Given the description of an element on the screen output the (x, y) to click on. 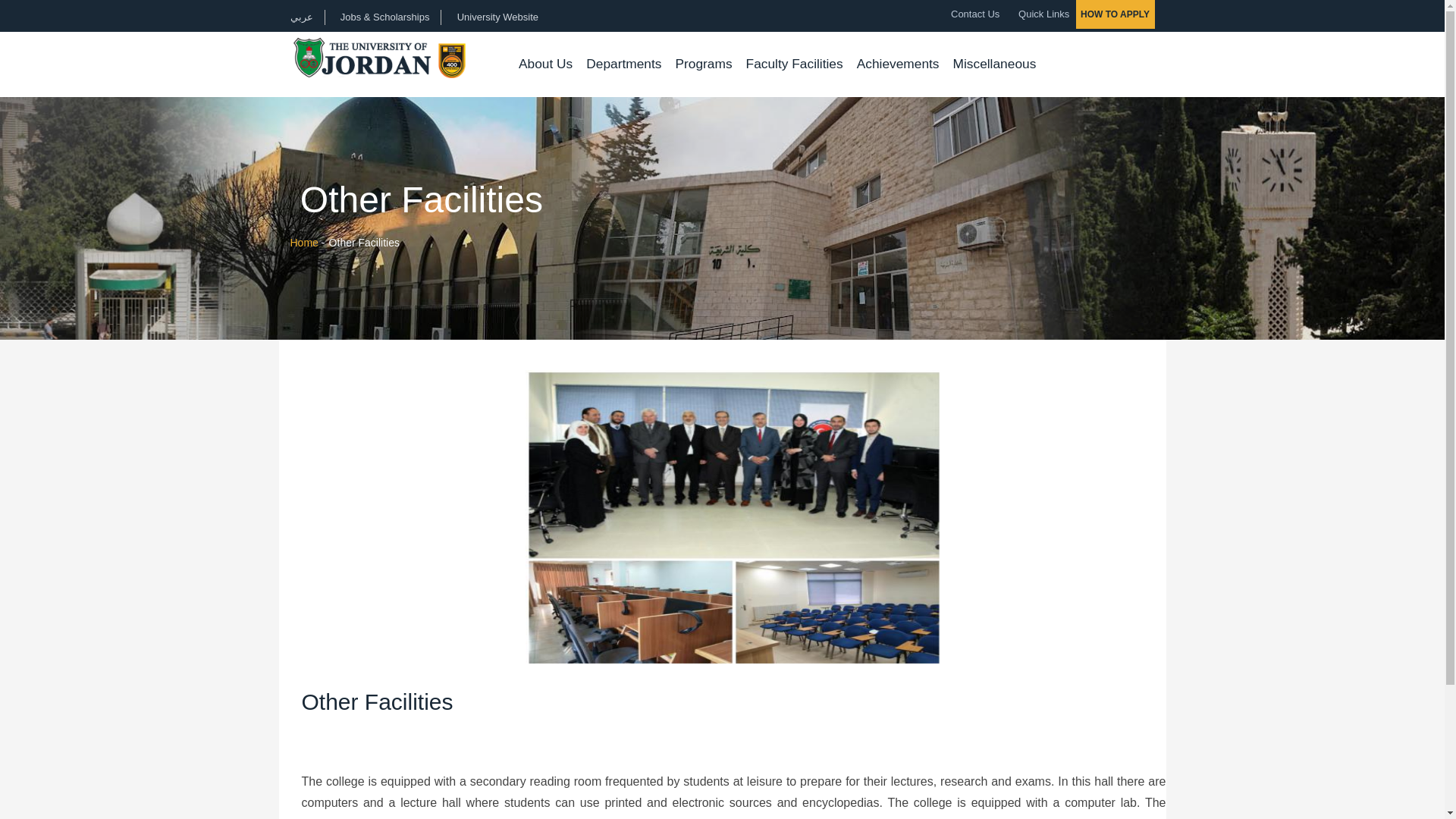
HOW TO APPLY (1114, 14)
Departments (623, 64)
Quick Links (1038, 14)
University Website (497, 16)
Programs (703, 64)
Faculty Facilities (794, 64)
About Us (545, 64)
Contact Us (970, 14)
